Given the description of an element on the screen output the (x, y) to click on. 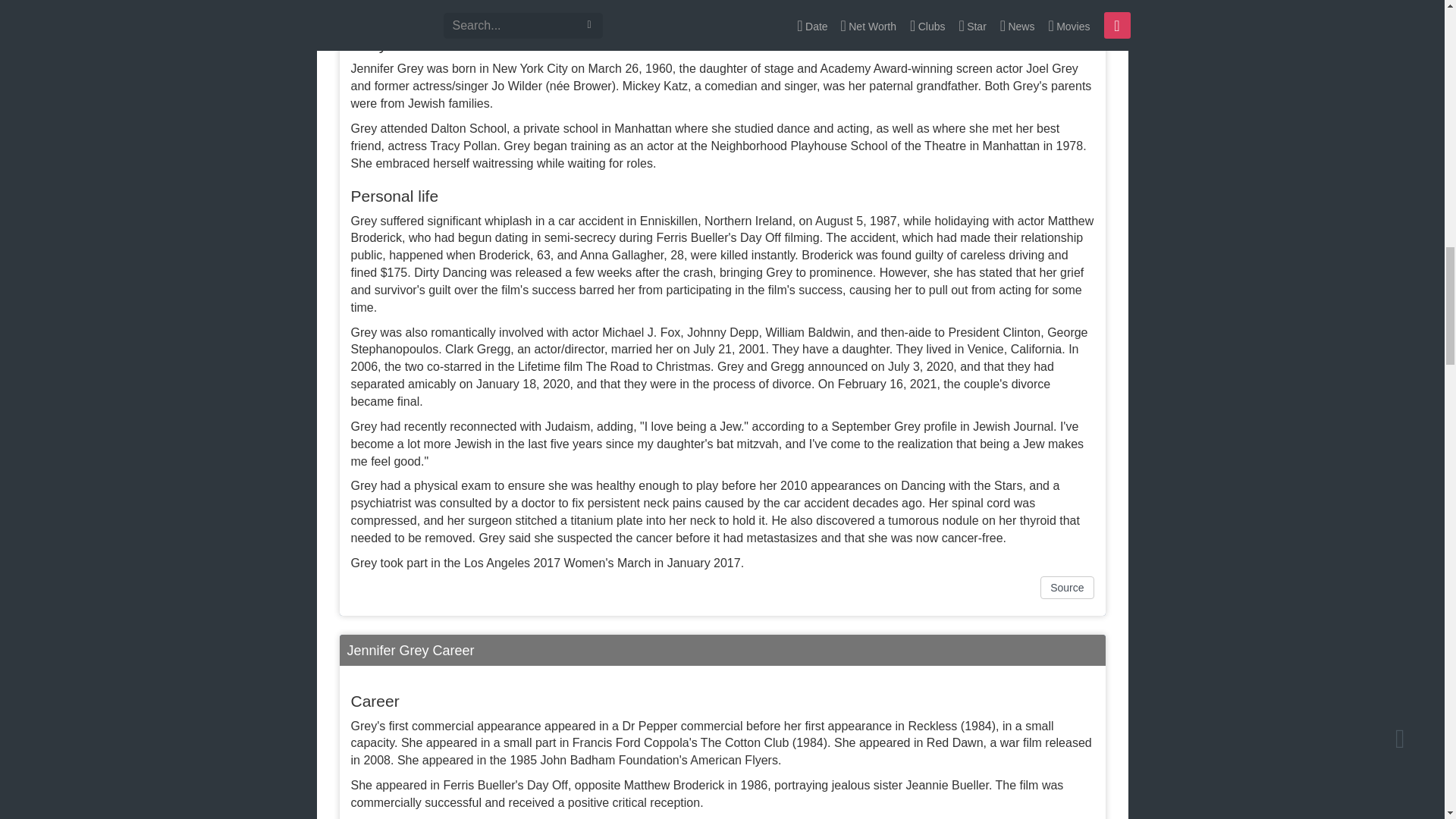
Source (1067, 587)
